Given the description of an element on the screen output the (x, y) to click on. 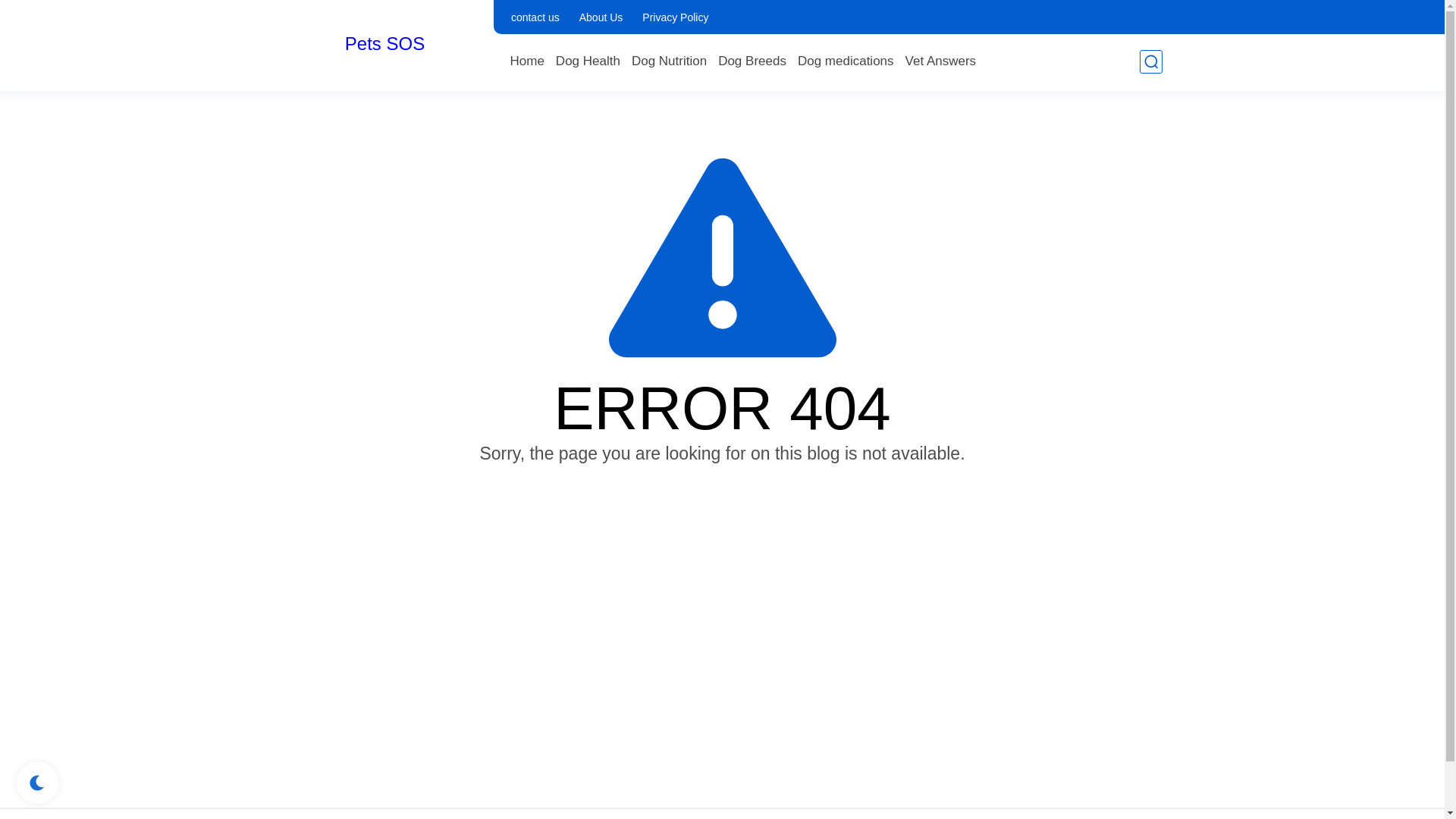
Pets SOS (385, 43)
Privacy Policy (675, 17)
Dog Breeds (751, 61)
Dog Health (588, 61)
Pets SOS (385, 43)
Dog medications (845, 61)
Dog Health (588, 61)
Dog Nutrition (668, 61)
Vet Answers (940, 61)
contact us (535, 17)
